Given the description of an element on the screen output the (x, y) to click on. 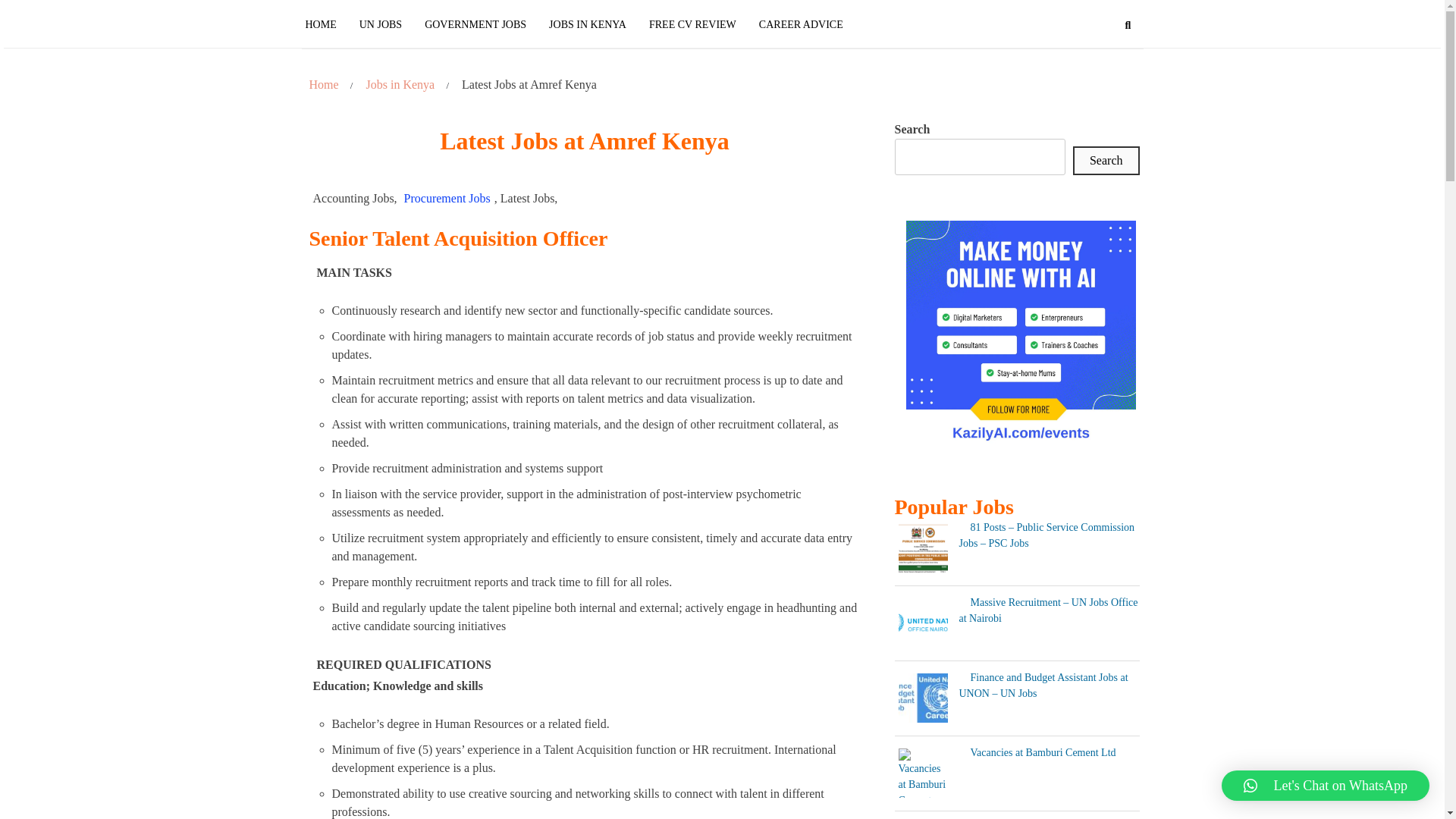
HOME (325, 24)
JOBS IN KENYA (587, 24)
Home (323, 84)
Jobs in Kenya (400, 84)
Search (1106, 160)
Search (1100, 87)
FREE CV REVIEW (692, 24)
CAREER ADVICE (801, 24)
GOVERNMENT JOBS (475, 24)
Procurement Jobs (447, 198)
UN JOBS (380, 24)
